Given the description of an element on the screen output the (x, y) to click on. 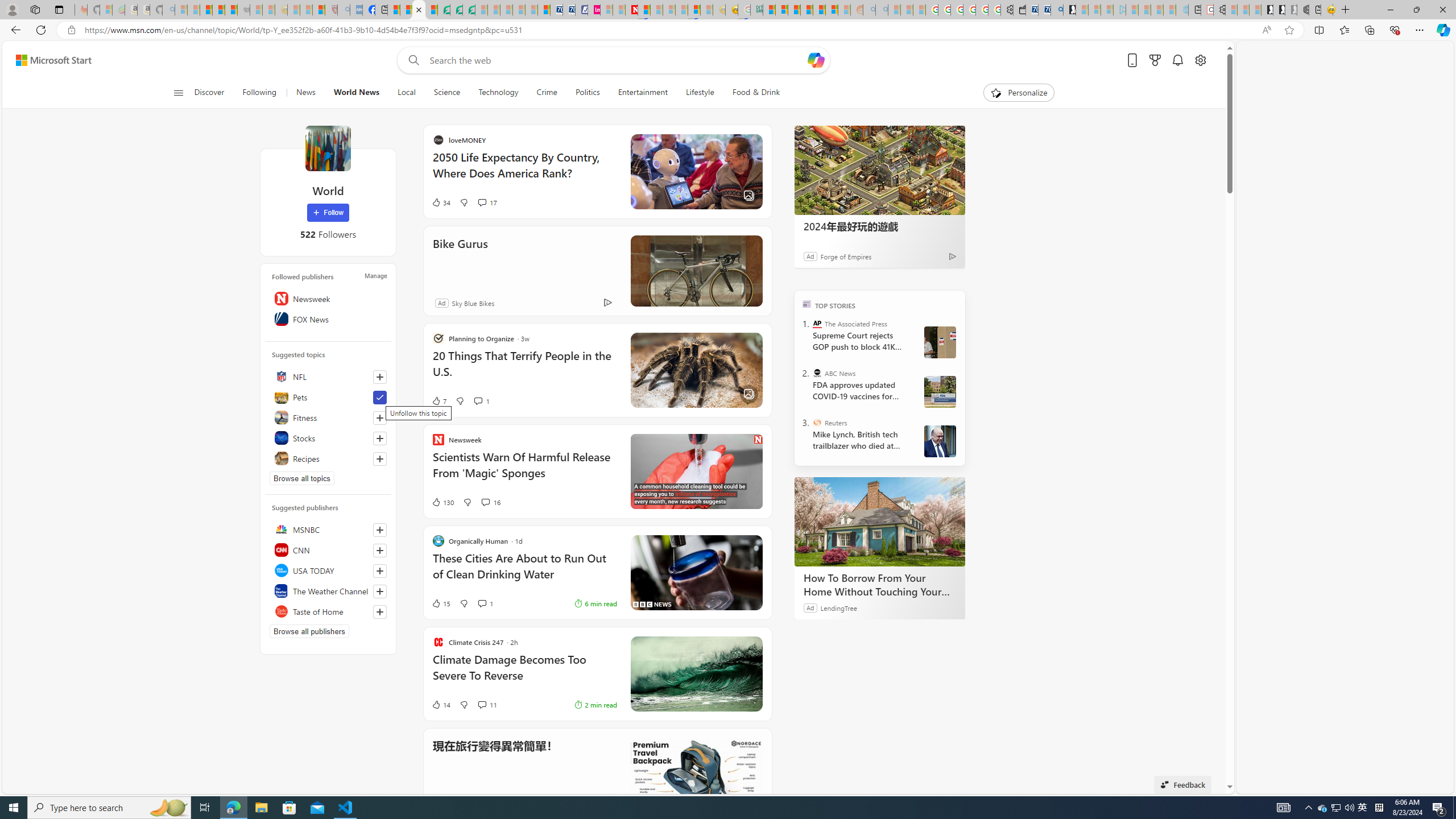
Bing Real Estate - Home sales and rental listings (1056, 9)
15 Like (549, 603)
14 Like (440, 704)
Terms of Use Agreement (456, 9)
